Given the description of an element on the screen output the (x, y) to click on. 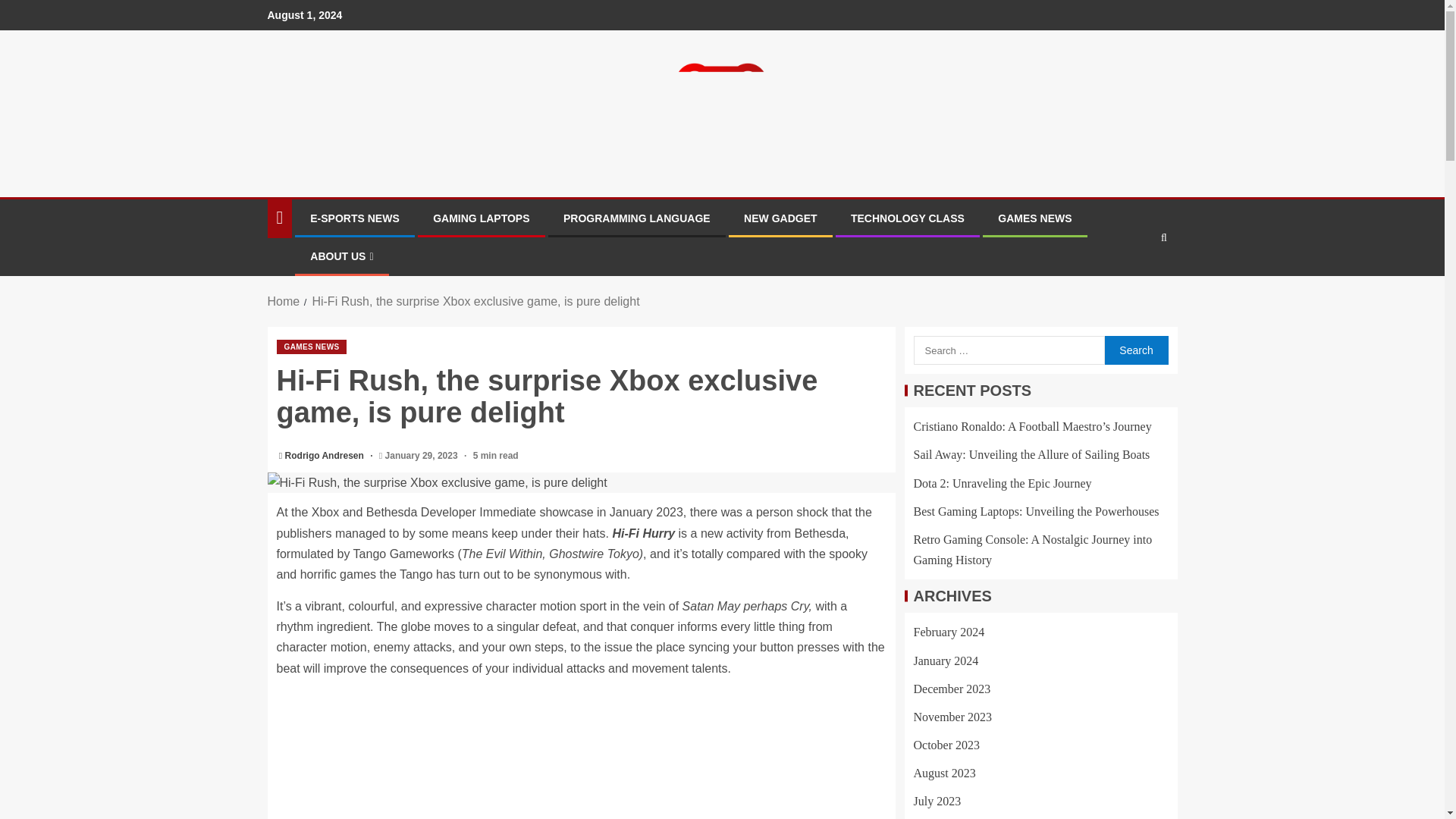
TECHNOLOGY CLASS (906, 218)
GAMES NEWS (1034, 218)
PROGRAMMING LANGUAGE (636, 218)
Search (1135, 349)
Search (1133, 284)
E-SPORTS NEWS (354, 218)
Search (1135, 349)
GAMES NEWS (311, 346)
